Given the description of an element on the screen output the (x, y) to click on. 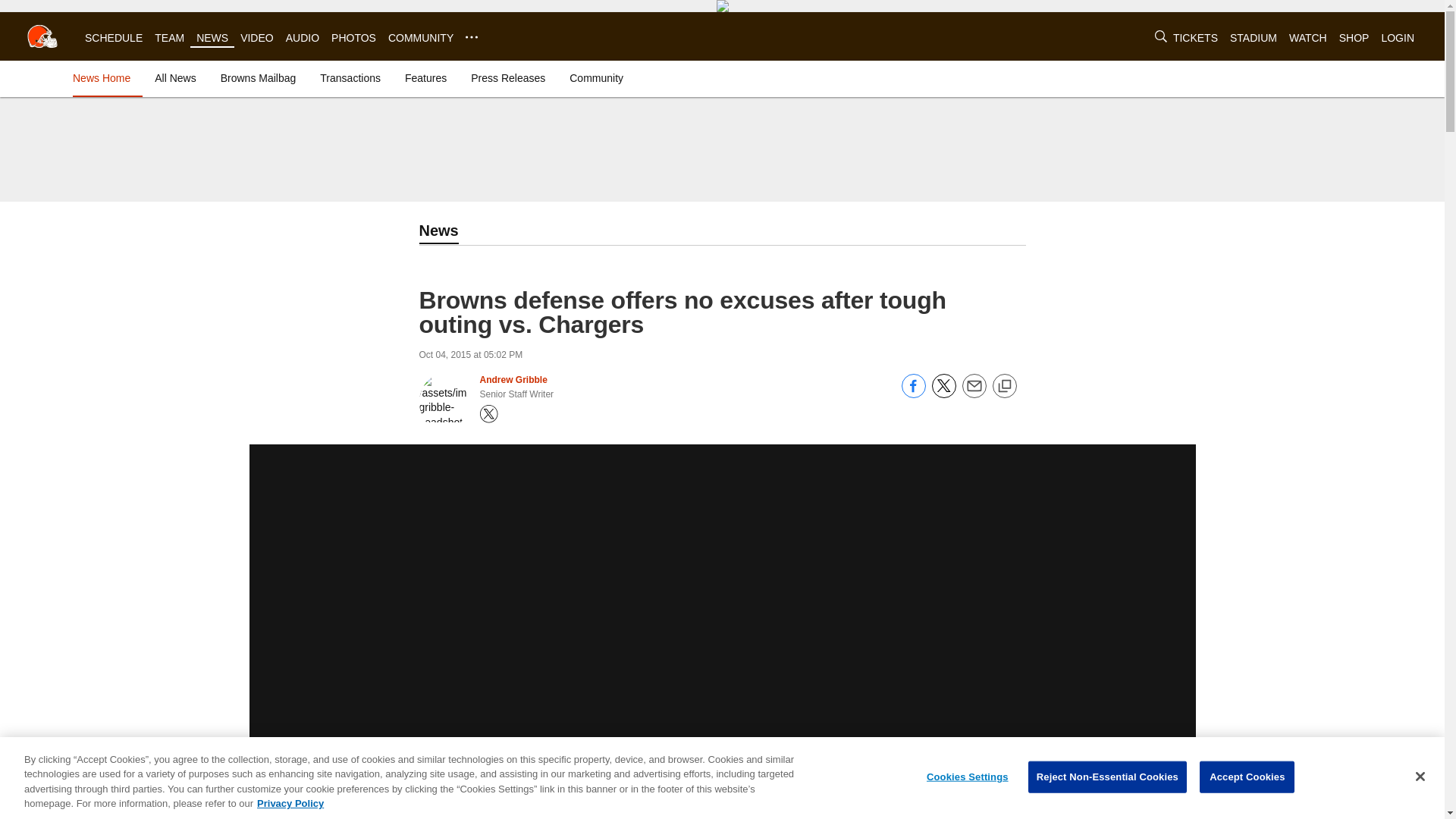
AUDIO (301, 37)
Press Releases (507, 77)
SCHEDULE (113, 37)
Features (425, 77)
TICKETS (1195, 37)
WATCH (1307, 37)
... (471, 37)
TEAM (169, 37)
WATCH (1307, 37)
SHOP (1354, 37)
